Given the description of an element on the screen output the (x, y) to click on. 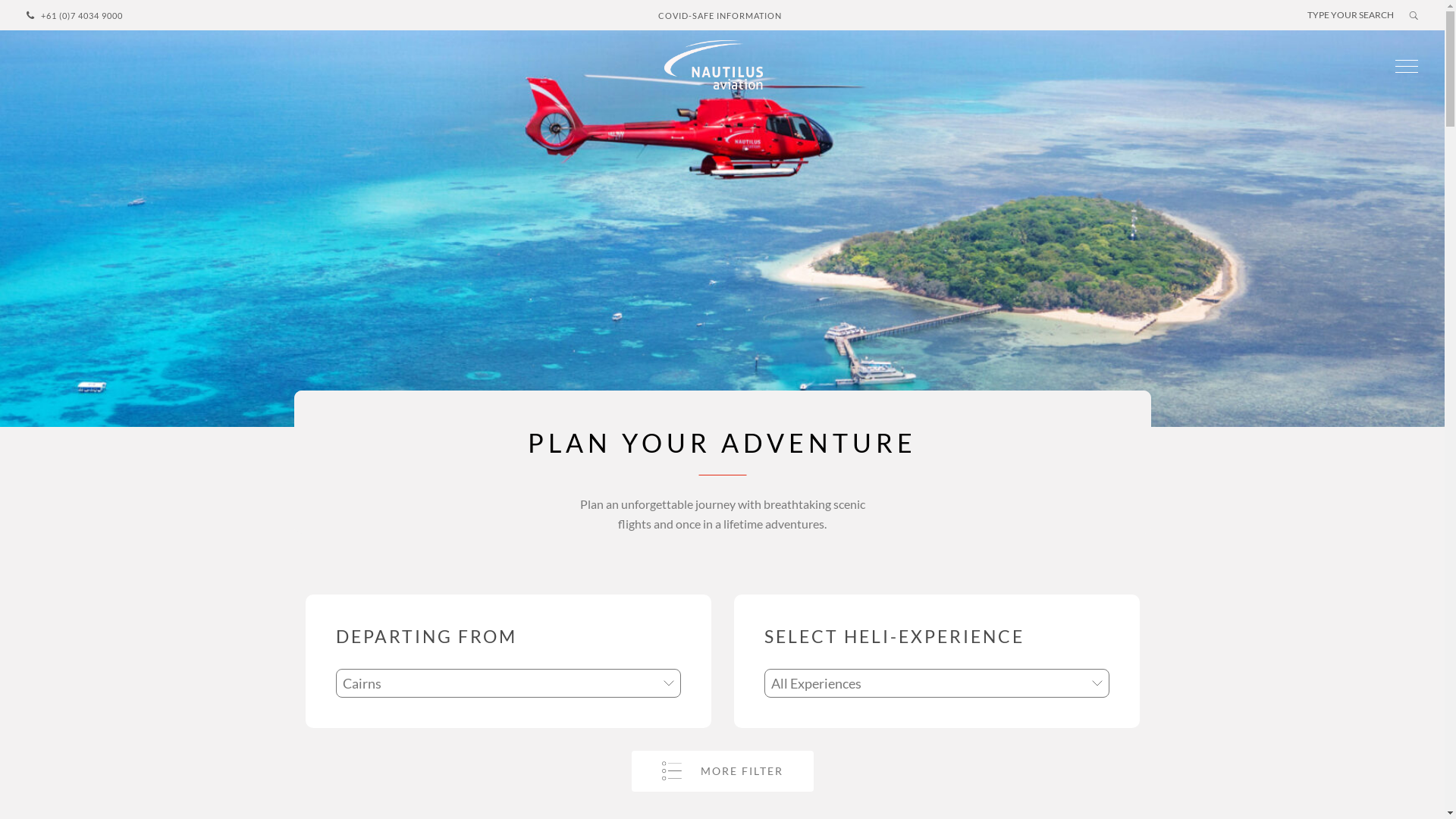
Search for: Element type: hover (1350, 14)
COVID-SAFE INFORMATION Element type: text (719, 15)
